Given the description of an element on the screen output the (x, y) to click on. 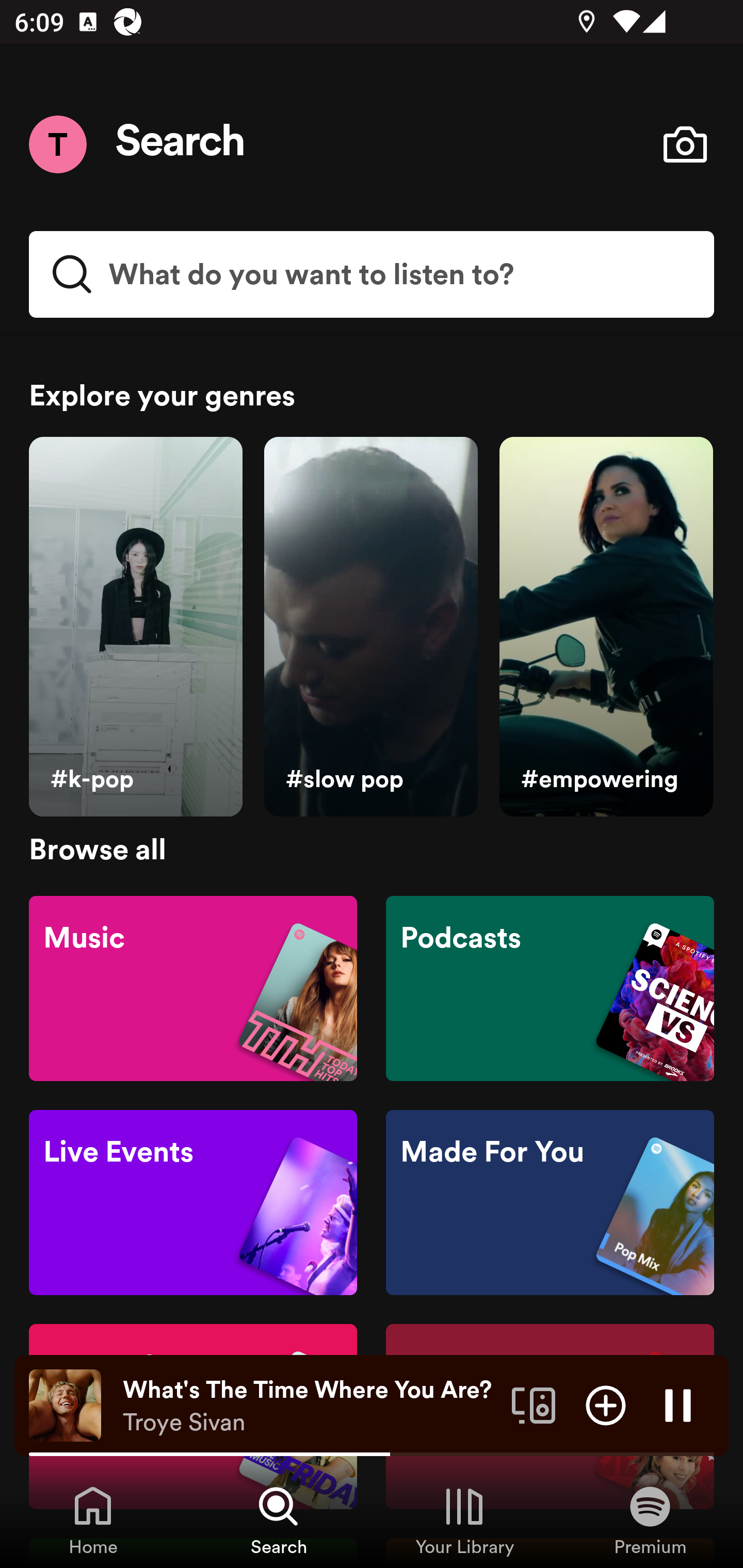
Menu (57, 144)
Open camera (685, 145)
Search (180, 144)
#k-pop (135, 626)
#slow pop (370, 626)
#empowering (606, 626)
Music (192, 987)
Podcasts (549, 987)
Live Events (192, 1202)
Made For You (549, 1202)
What's The Time Where You Are? Troye Sivan (309, 1405)
The cover art of the currently playing track (64, 1404)
Connect to a device. Opens the devices menu (533, 1404)
Add item (605, 1404)
Pause (677, 1404)
Home, Tab 1 of 4 Home Home (92, 1519)
Search, Tab 2 of 4 Search Search (278, 1519)
Your Library, Tab 3 of 4 Your Library Your Library (464, 1519)
Premium, Tab 4 of 4 Premium Premium (650, 1519)
